Given the description of an element on the screen output the (x, y) to click on. 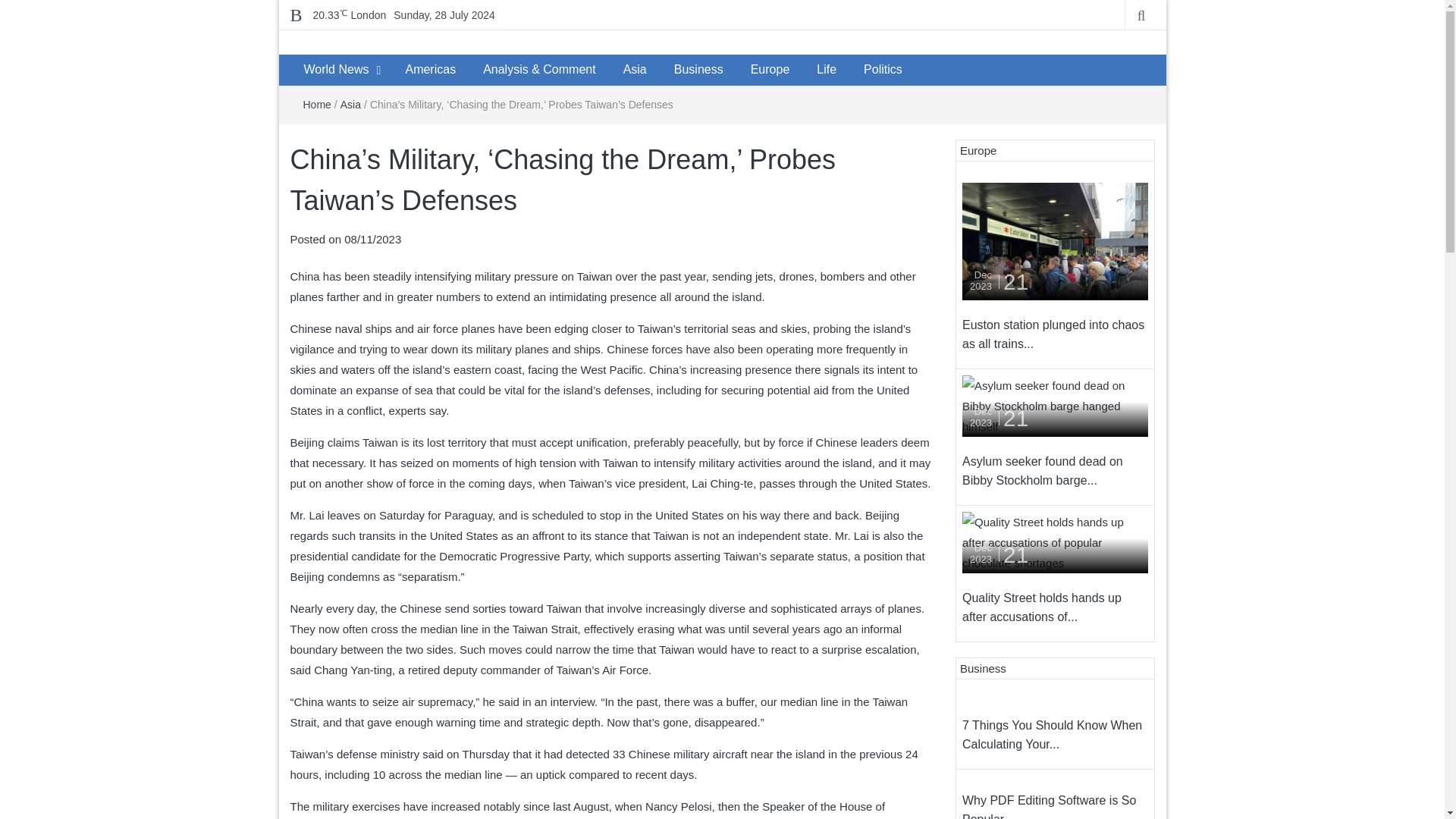
Europe (769, 69)
Euston station plunged into chaos as all trains cancelled (1055, 241)
Euston station plunged into chaos as all trains cancelled (1055, 239)
Home (316, 104)
Life (826, 69)
World News (335, 69)
Asia (350, 104)
Business (698, 69)
Politics (882, 69)
Clear (349, 14)
Search (15, 6)
